Given the description of an element on the screen output the (x, y) to click on. 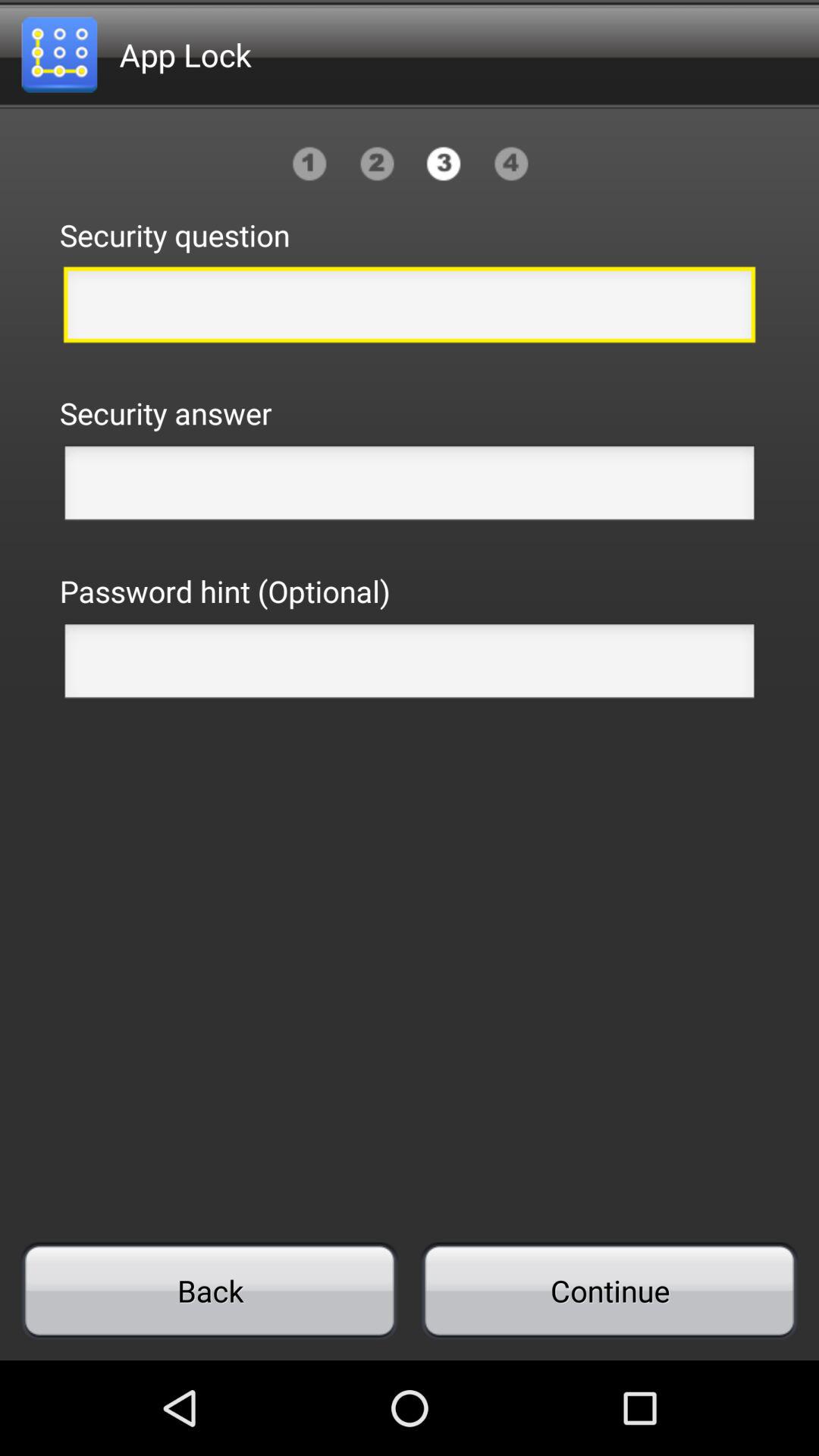
jump until the back item (209, 1290)
